Given the description of an element on the screen output the (x, y) to click on. 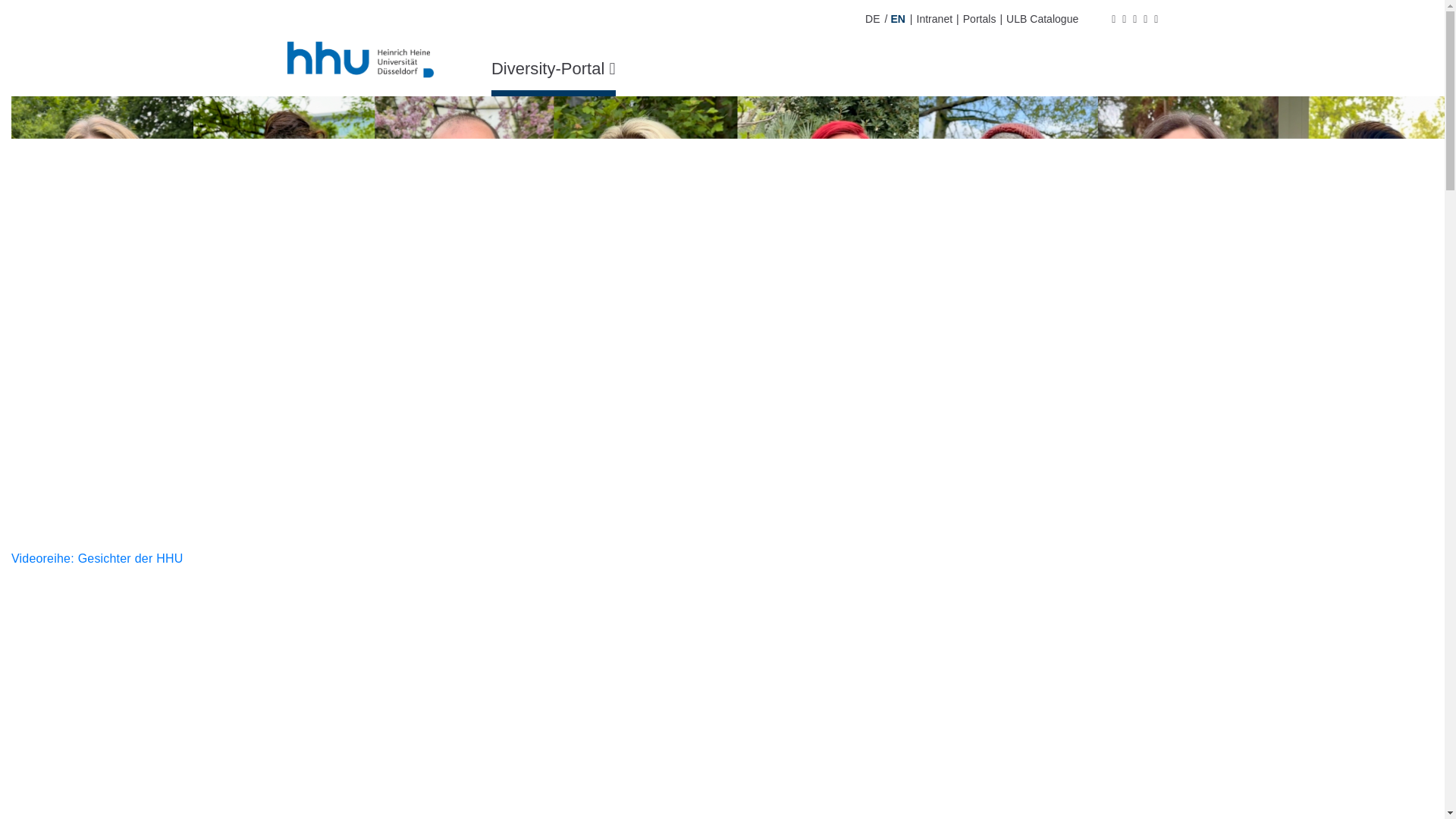
DE (871, 19)
Intranet (934, 19)
ULB Catalogue (1042, 19)
ULB Catalogue (1042, 19)
Portals (979, 19)
Intranet (934, 19)
Portals (979, 19)
